Given the description of an element on the screen output the (x, y) to click on. 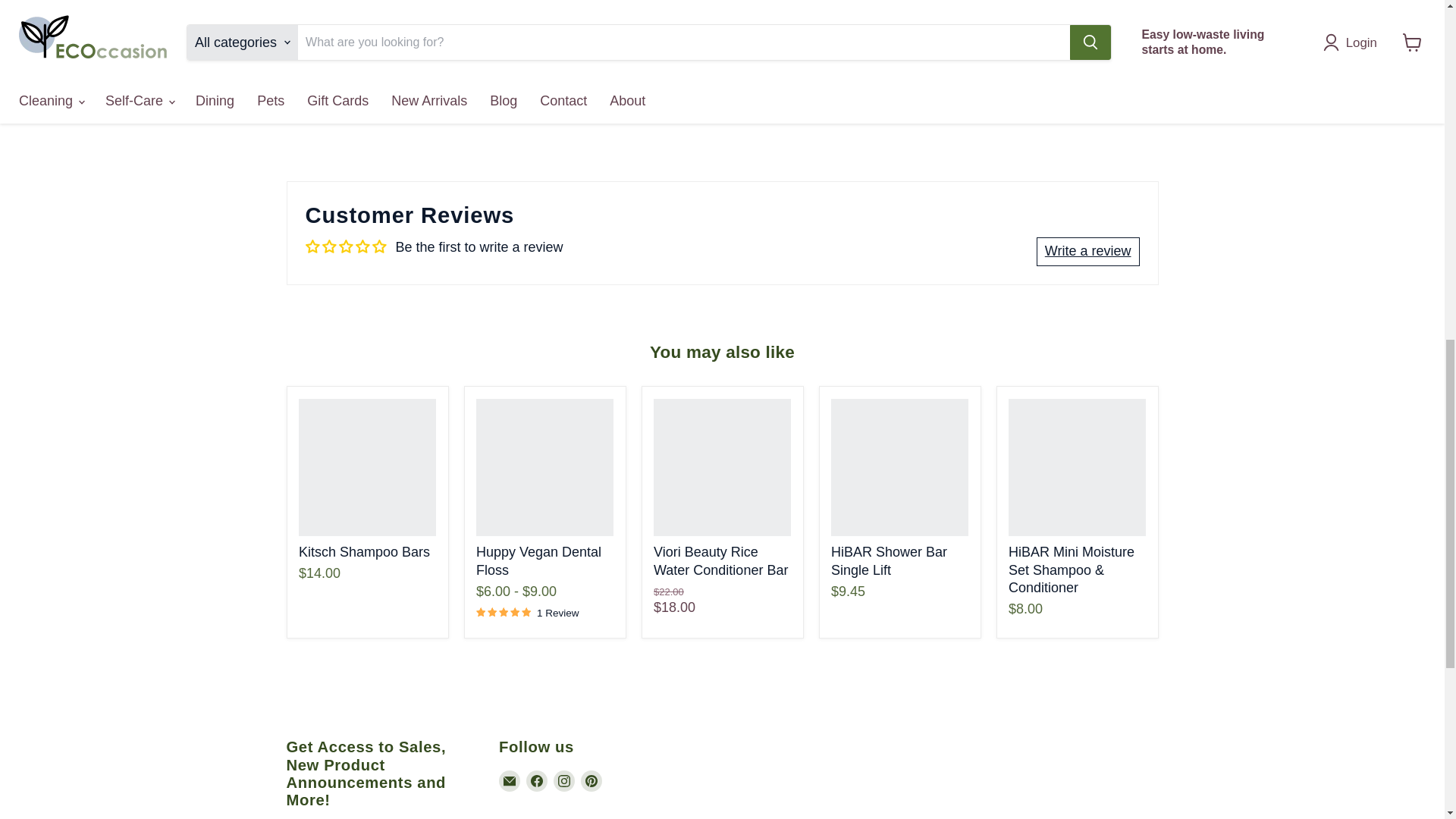
E-mail (509, 780)
Instagram (564, 780)
Pinterest (591, 780)
Facebook (536, 780)
